Given the description of an element on the screen output the (x, y) to click on. 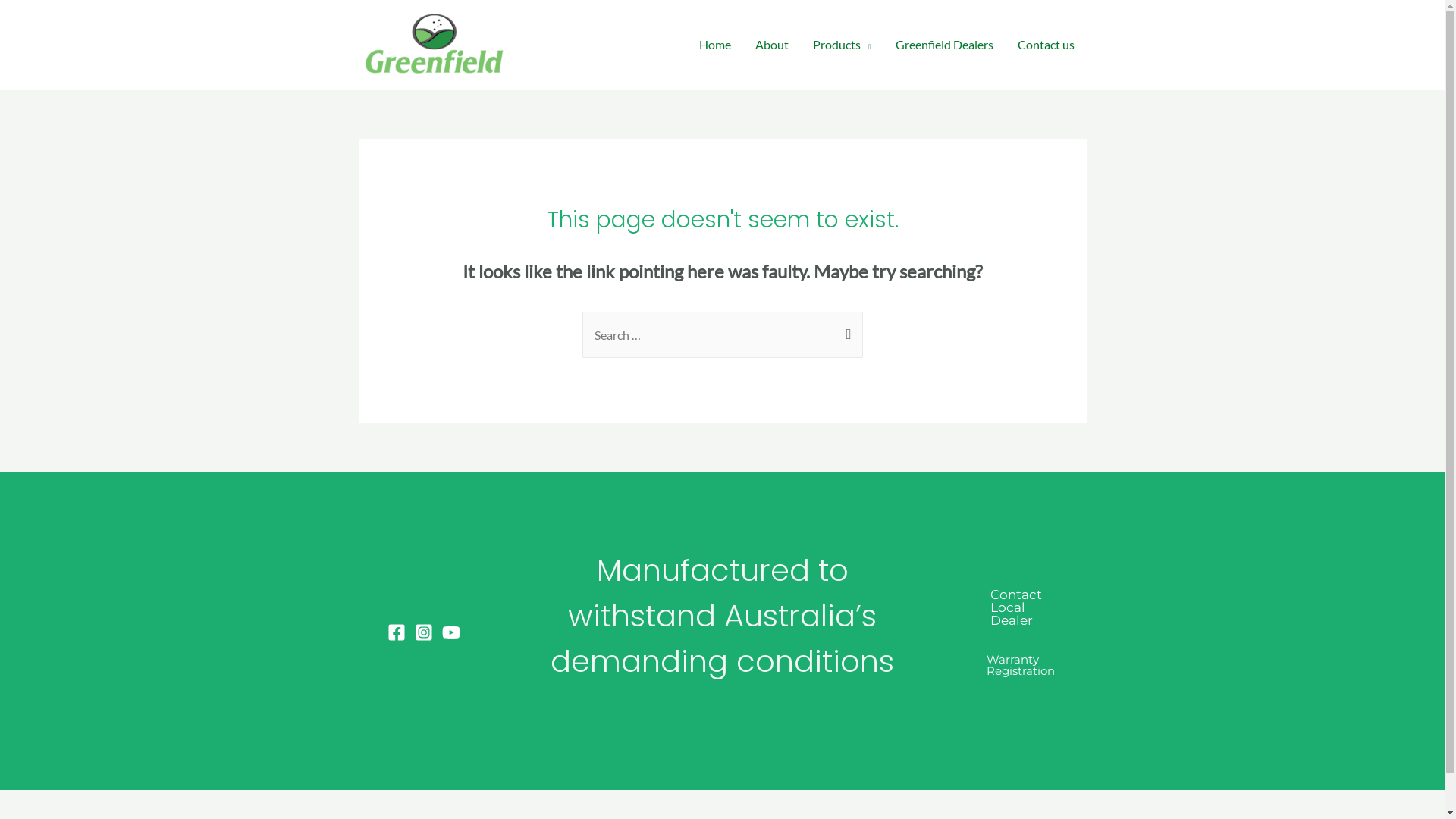
Warranty Registration Element type: text (1020, 665)
Products Element type: text (841, 44)
Contact Local Dealer Element type: text (1020, 607)
Home Element type: text (715, 44)
About Element type: text (771, 44)
Greenfield Dealers Element type: text (943, 44)
Contact us Element type: text (1045, 44)
Search Element type: text (845, 326)
